Given the description of an element on the screen output the (x, y) to click on. 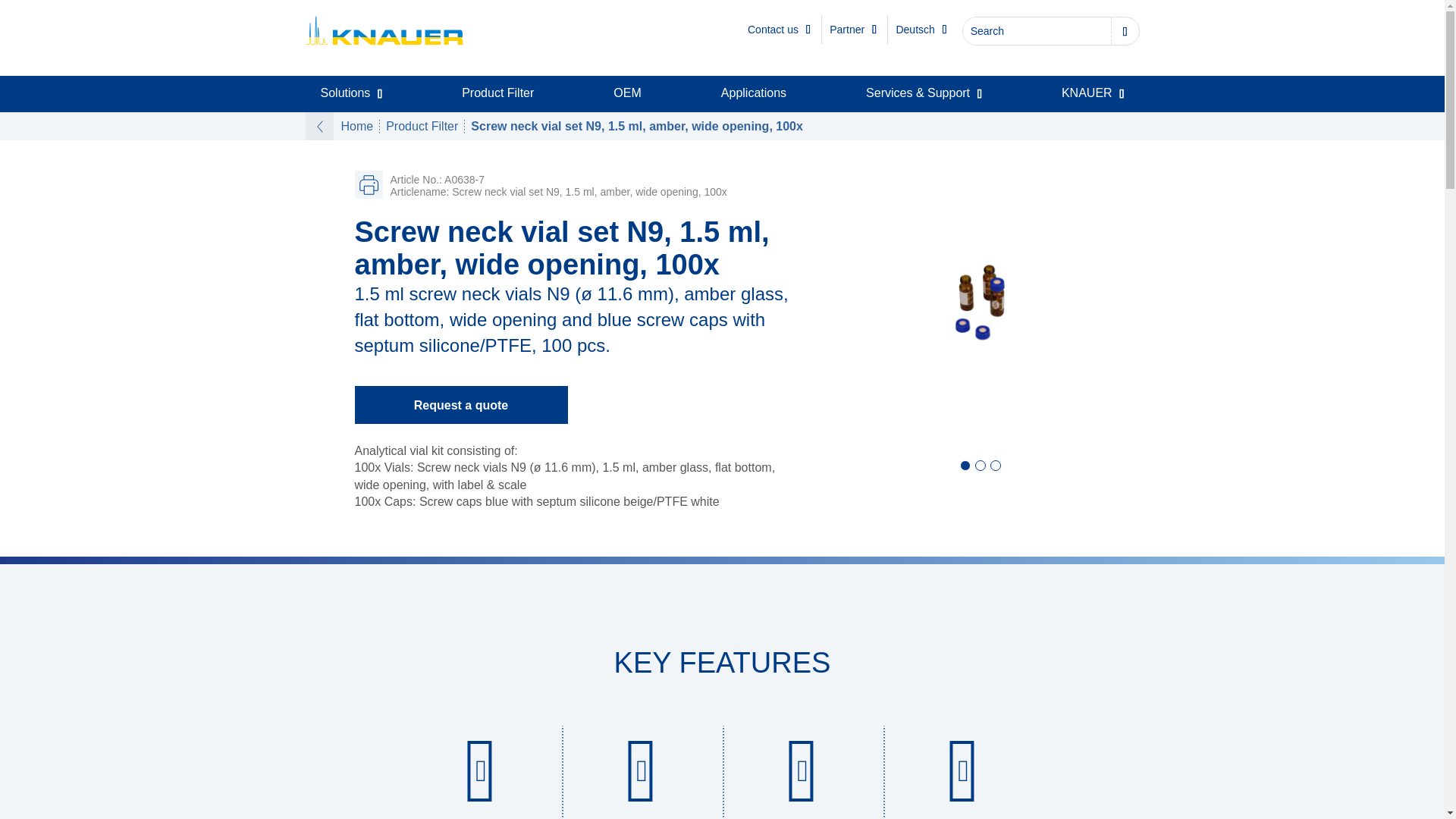
OEM (627, 93)
Applications (754, 93)
Contact us (779, 29)
Deutsch (920, 29)
Product Filter (497, 93)
Partner (852, 29)
